Given the description of an element on the screen output the (x, y) to click on. 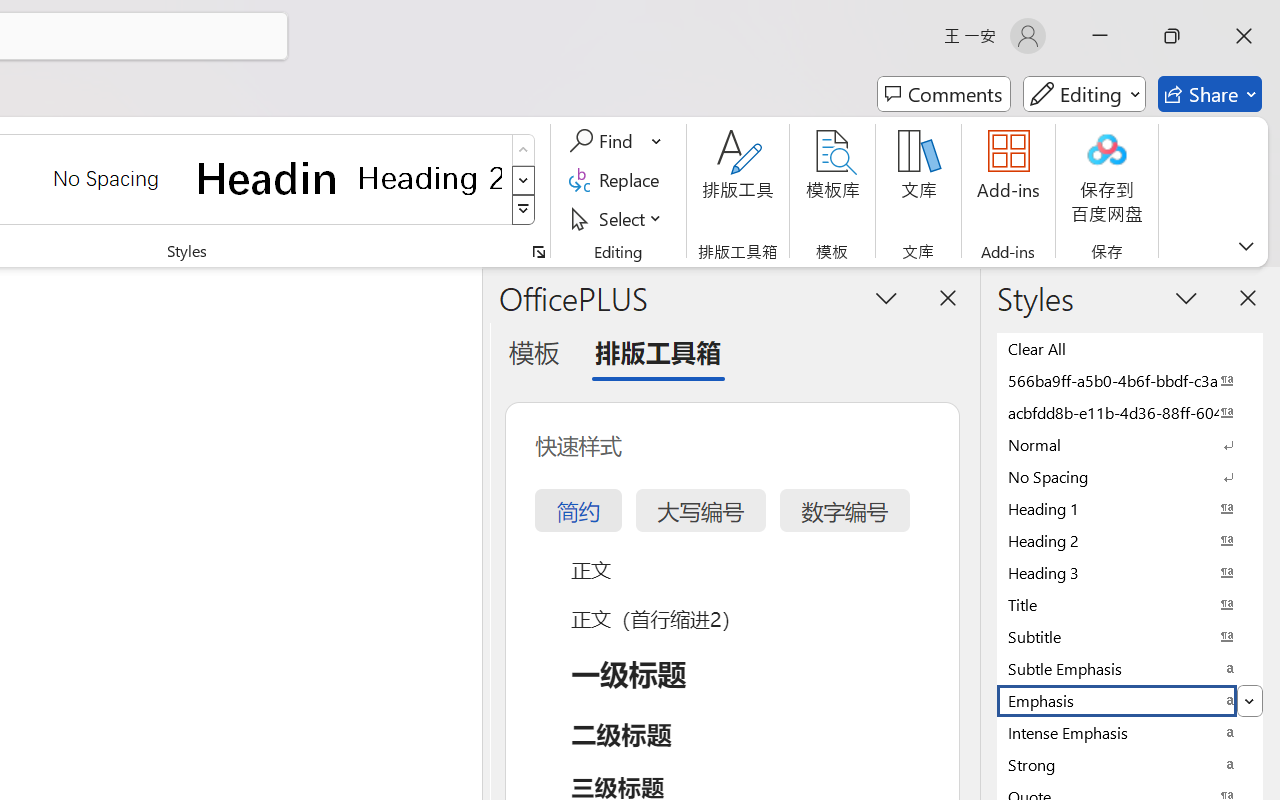
Title (1130, 604)
Subtitle (1130, 636)
Row Down (523, 180)
Select (618, 218)
Normal (1130, 444)
acbfdd8b-e11b-4d36-88ff-6049b138f862 (1130, 412)
Minimize (1099, 36)
566ba9ff-a5b0-4b6f-bbdf-c3ab41993fc2 (1130, 380)
Comments (943, 94)
Close (1244, 36)
